Given the description of an element on the screen output the (x, y) to click on. 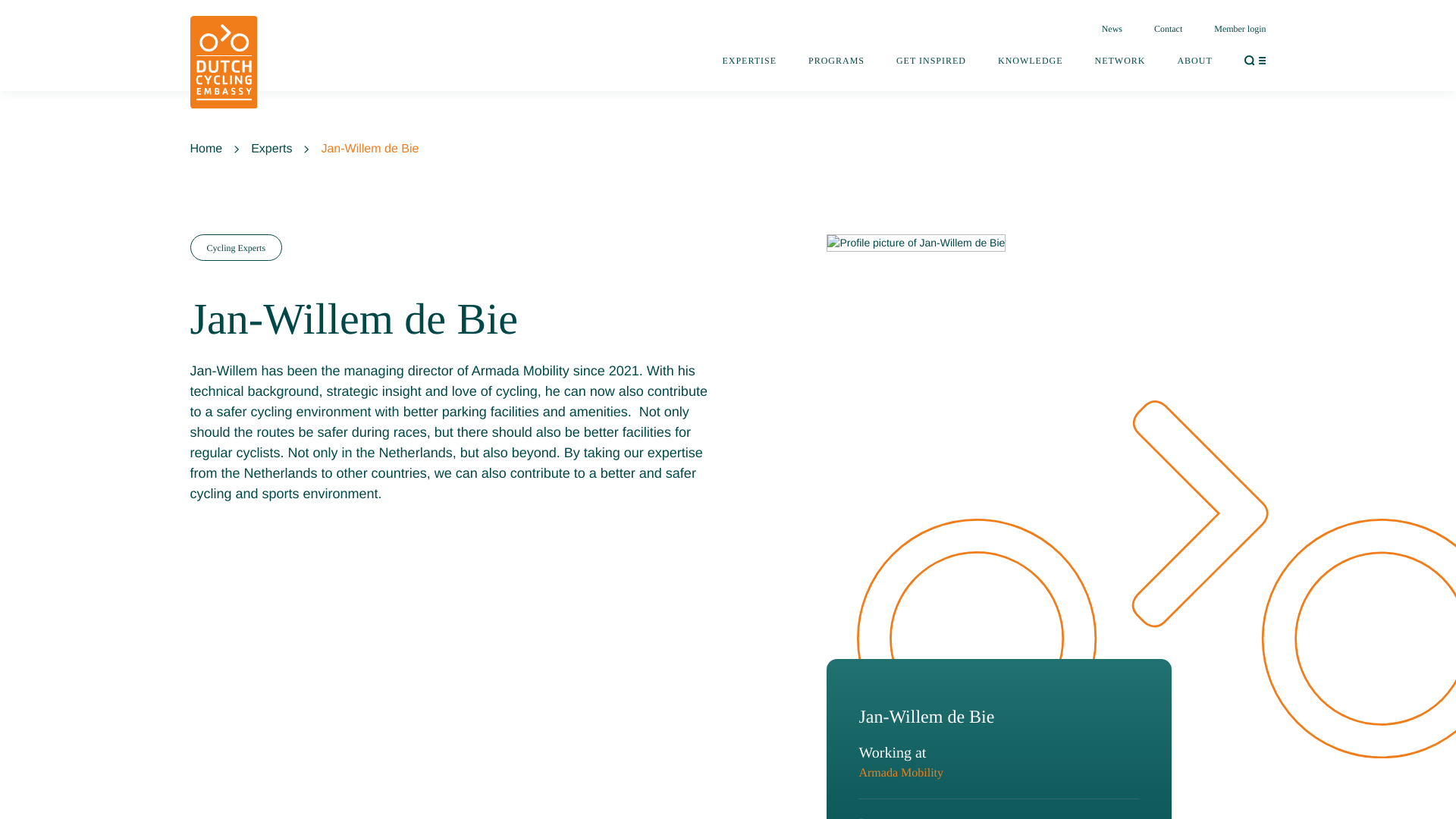
Home (205, 149)
Jan-Willem de Bie (369, 149)
Experts (271, 149)
